Given the description of an element on the screen output the (x, y) to click on. 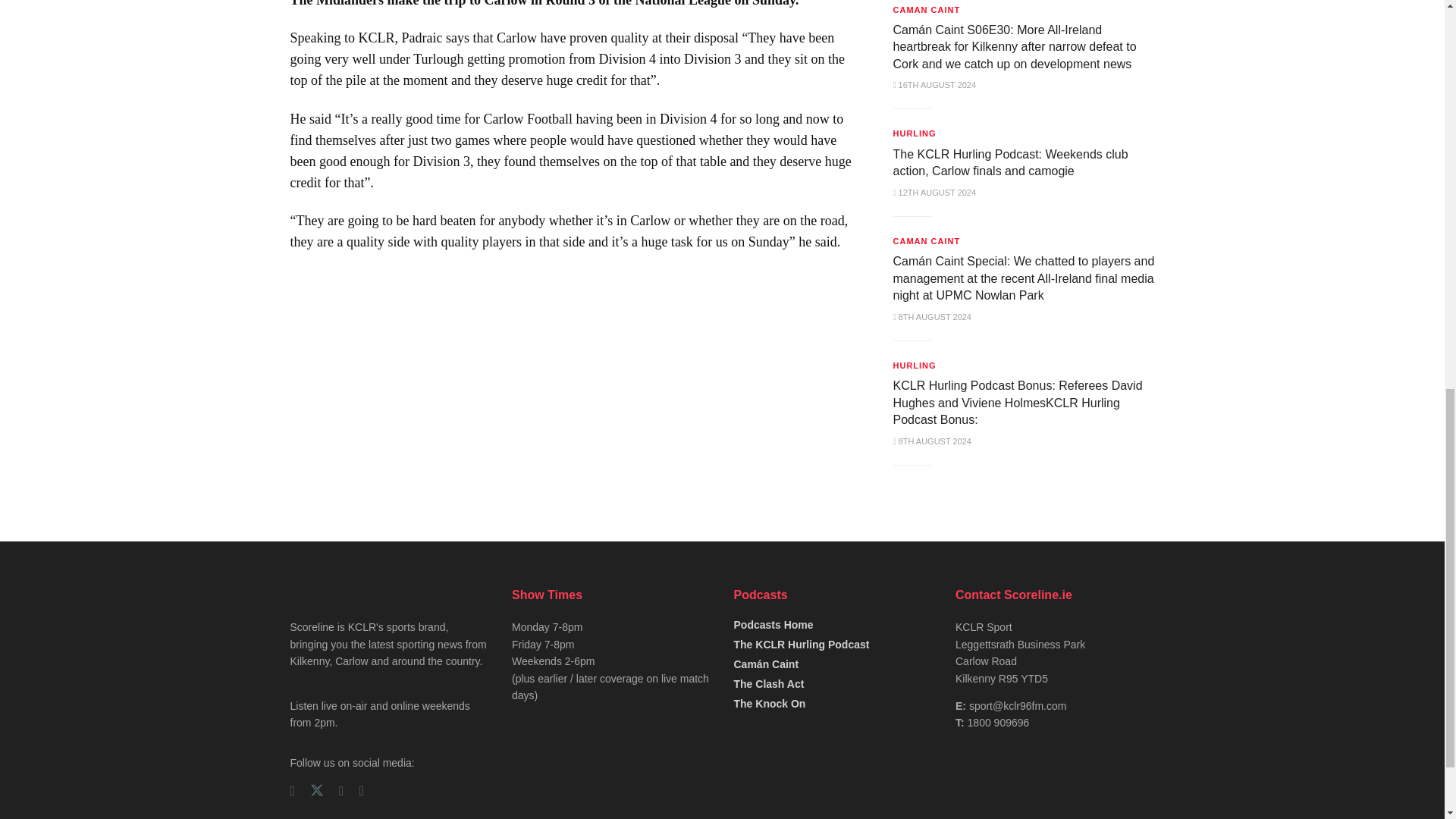
16TH AUGUST 2024 (934, 84)
12TH AUGUST 2024 (934, 192)
CAMAN CAINT (926, 9)
HURLING (914, 133)
